Given the description of an element on the screen output the (x, y) to click on. 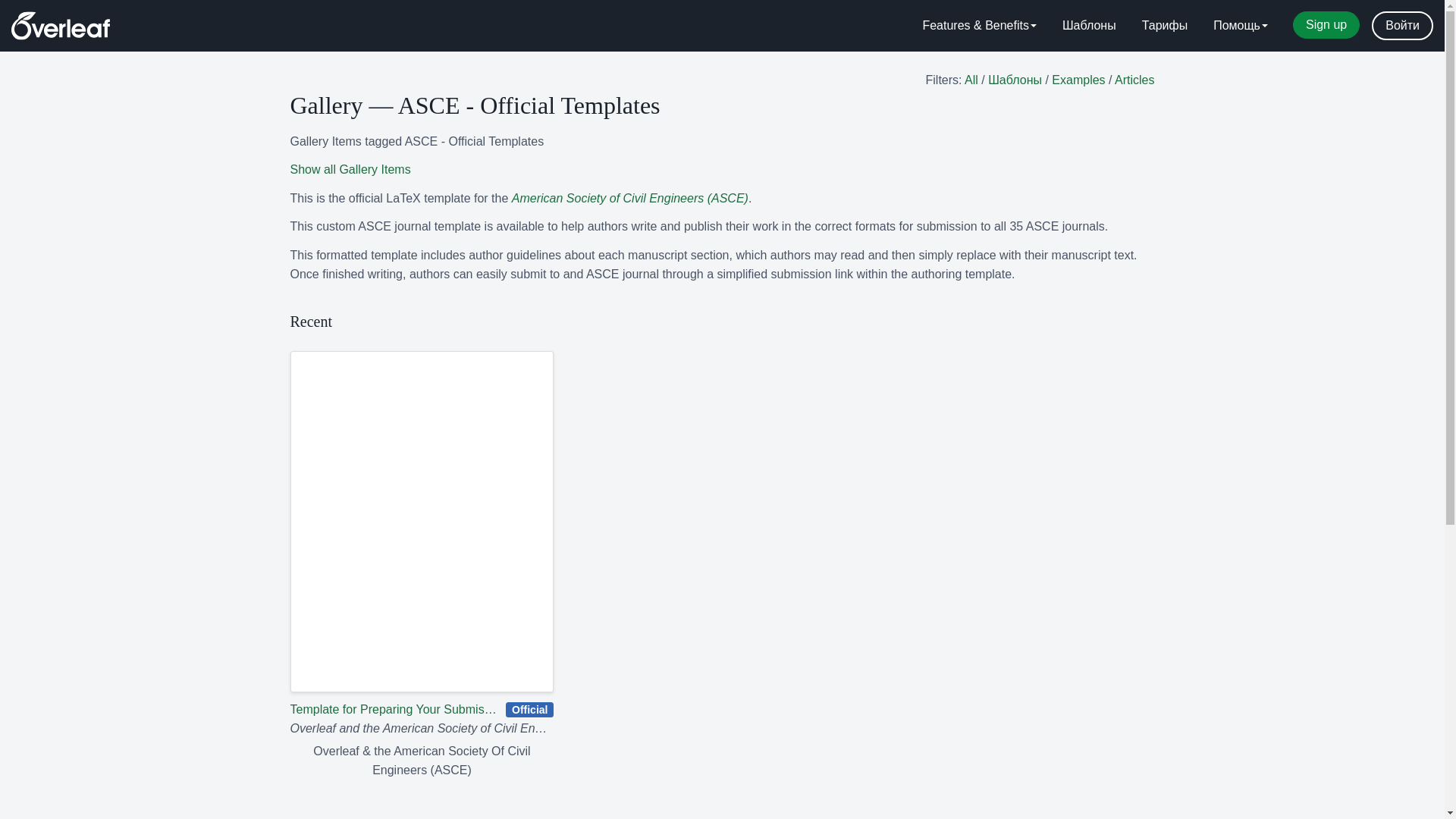
Sign up (1325, 24)
All (970, 79)
Examples (1078, 79)
Show all Gallery Items (349, 169)
Articles (1134, 79)
